Given the description of an element on the screen output the (x, y) to click on. 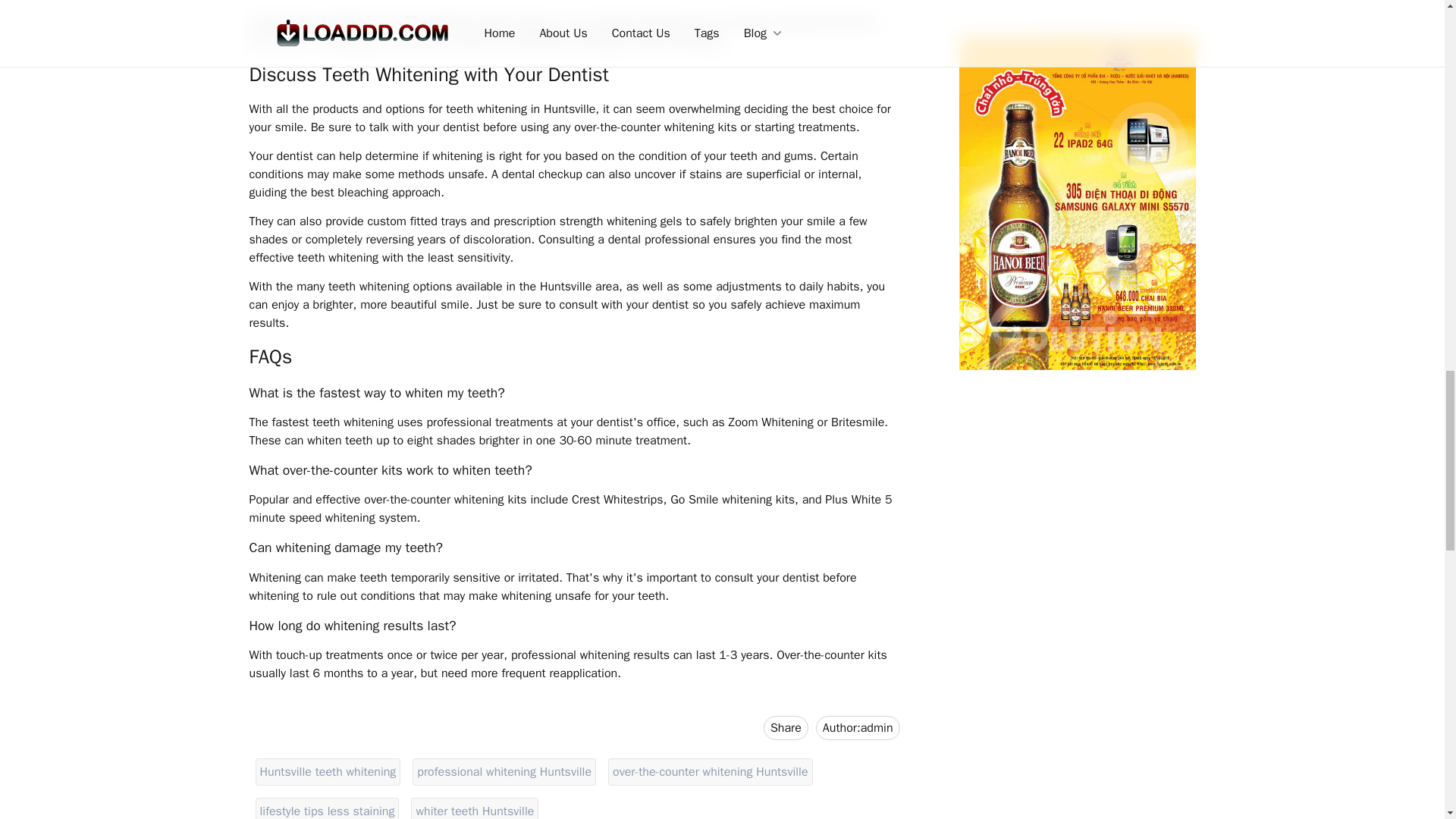
Huntsville teeth whitening (327, 771)
over-the-counter whitening Huntsville (710, 771)
 whiter teeth Huntsville (474, 805)
 lifestyle tips less staining (326, 805)
professional whitening Huntsville (504, 771)
 over-the-counter whitening Huntsville (710, 771)
whiter teeth Huntsville (857, 727)
Huntsville teeth whitening (474, 805)
lifestyle tips less staining (327, 771)
 professional whitening Huntsville (326, 805)
Share (504, 771)
